Given the description of an element on the screen output the (x, y) to click on. 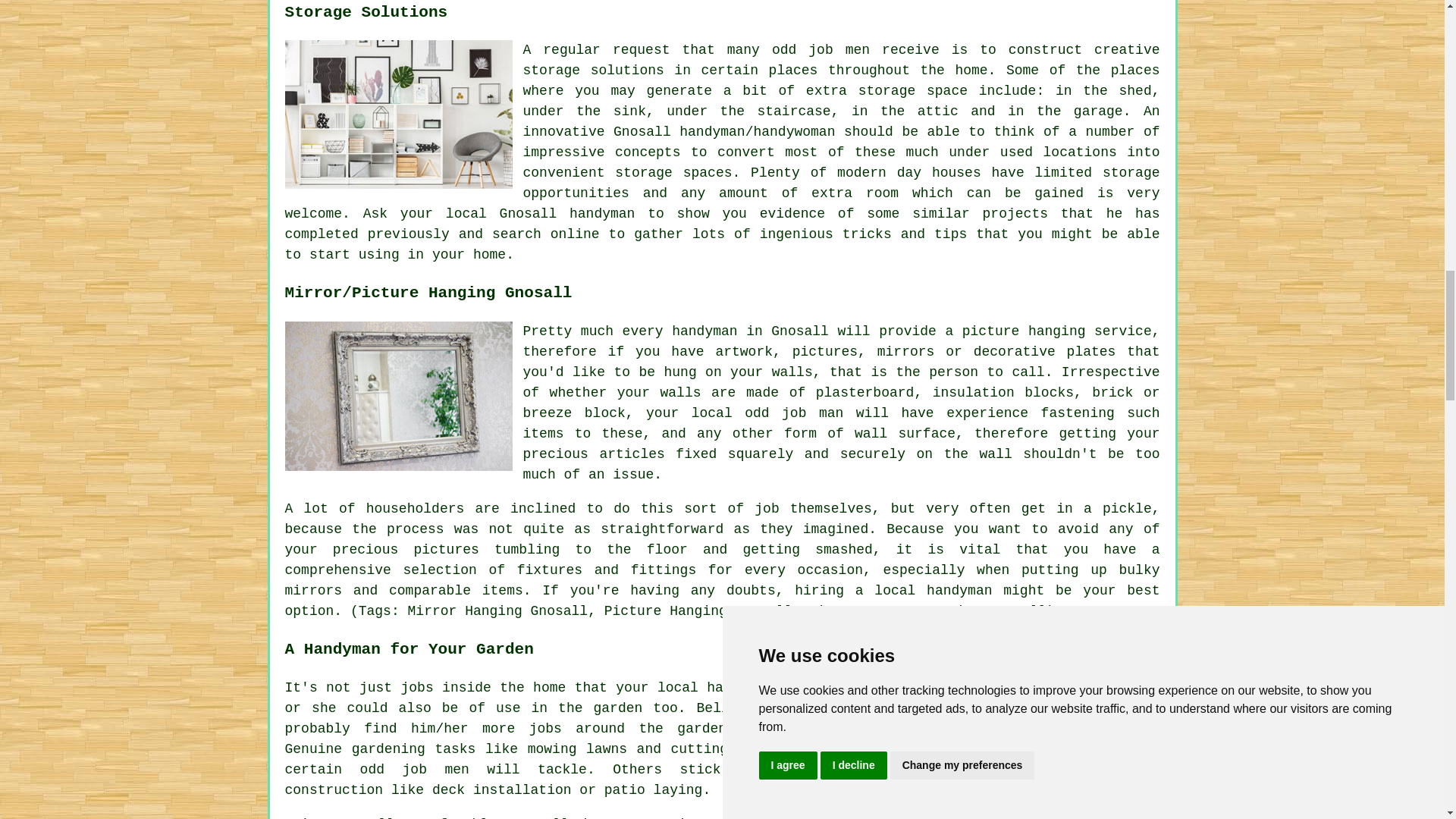
Handyman Storage Solutions Gnosall Staffordshire (398, 114)
